Given the description of an element on the screen output the (x, y) to click on. 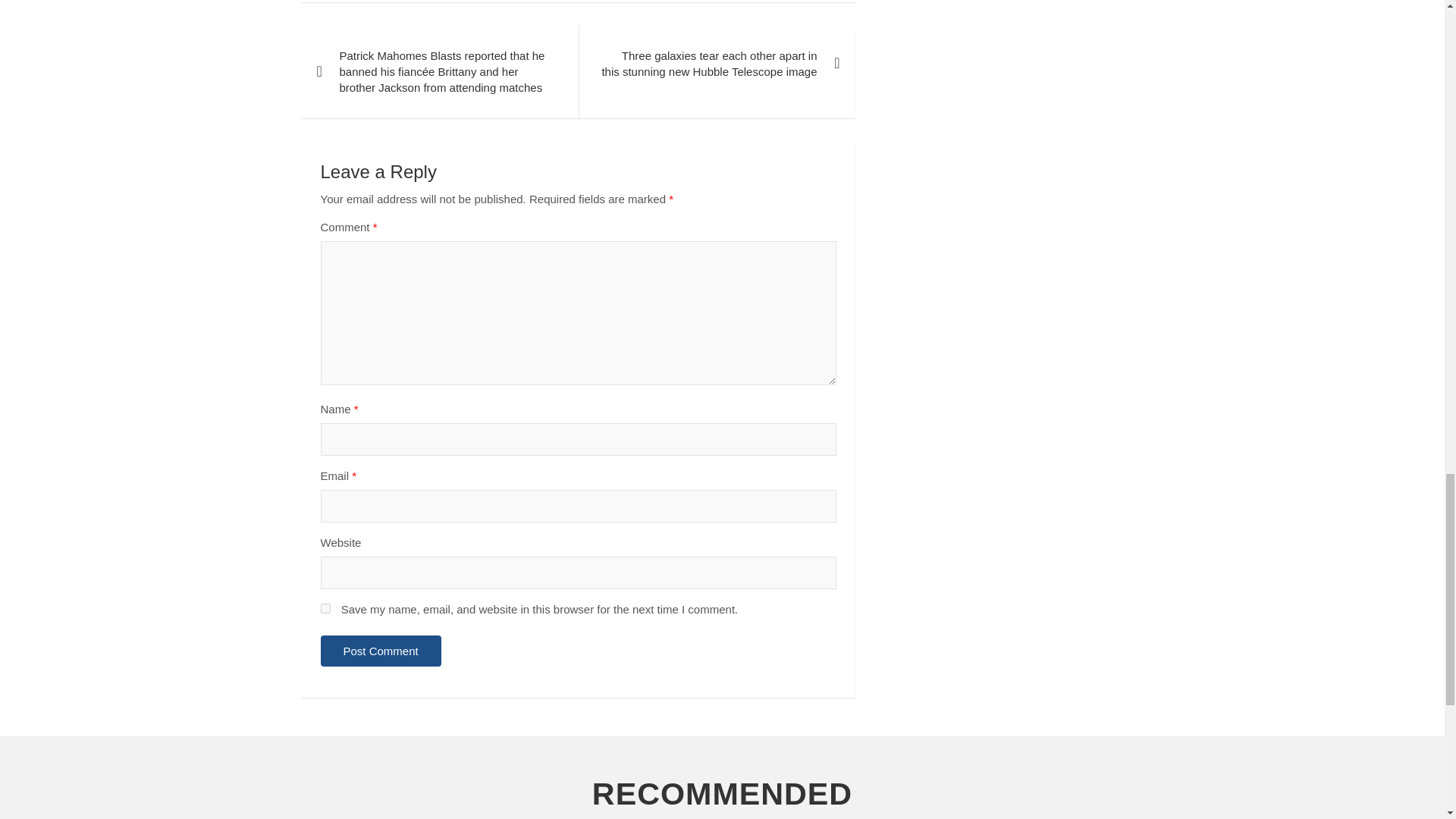
Post Comment (380, 650)
Post Comment (380, 650)
yes (325, 608)
